Given the description of an element on the screen output the (x, y) to click on. 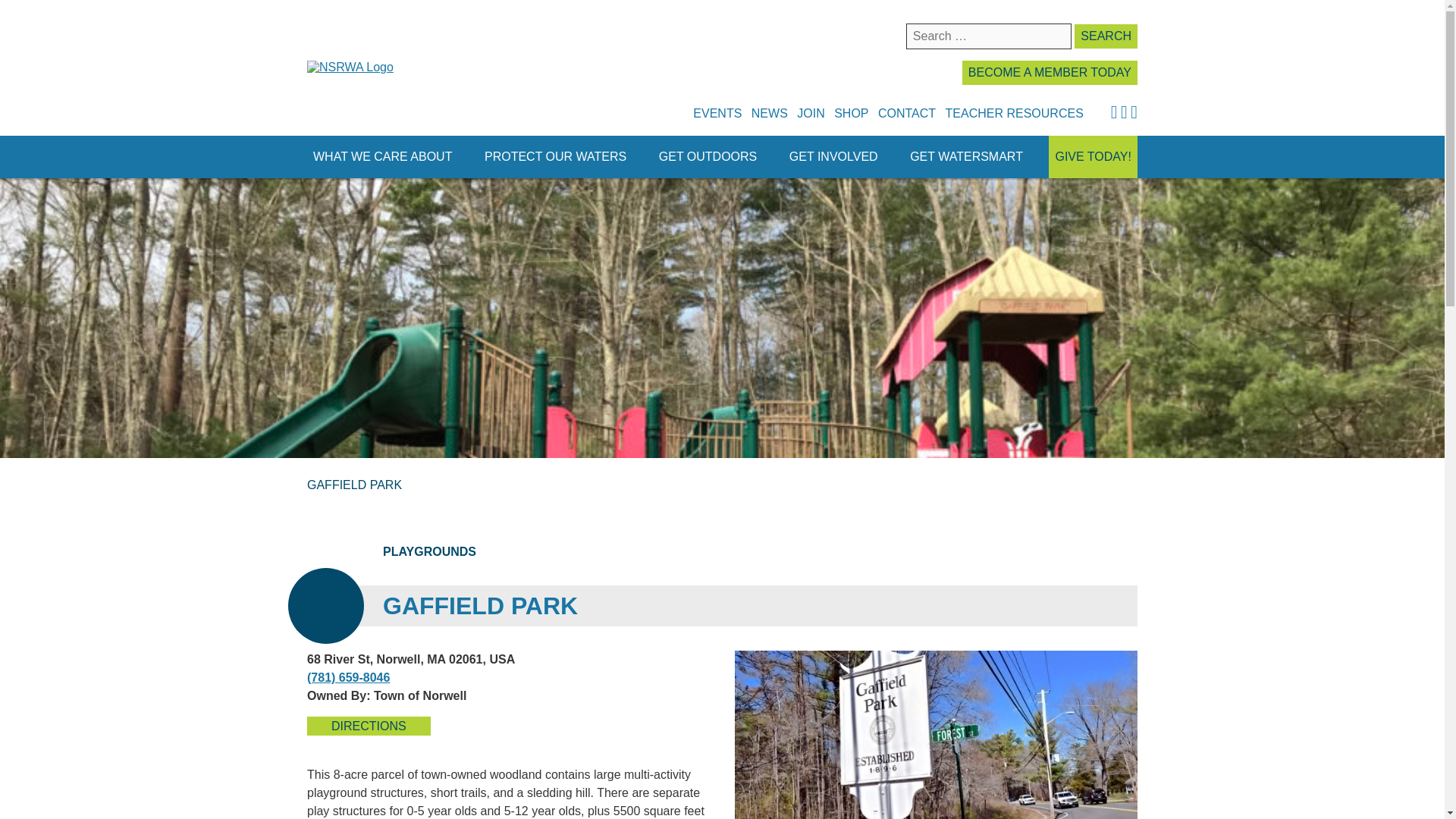
Search (1105, 36)
TEACHER RESOURCES (1014, 112)
WHAT WE CARE ABOUT (382, 156)
Search (1105, 36)
Search (1105, 36)
CONTACT (907, 112)
BECOME A MEMBER TODAY (1049, 72)
Click here to navigate to the homepage (350, 67)
SHOP (850, 112)
NEWS (769, 112)
